Given the description of an element on the screen output the (x, y) to click on. 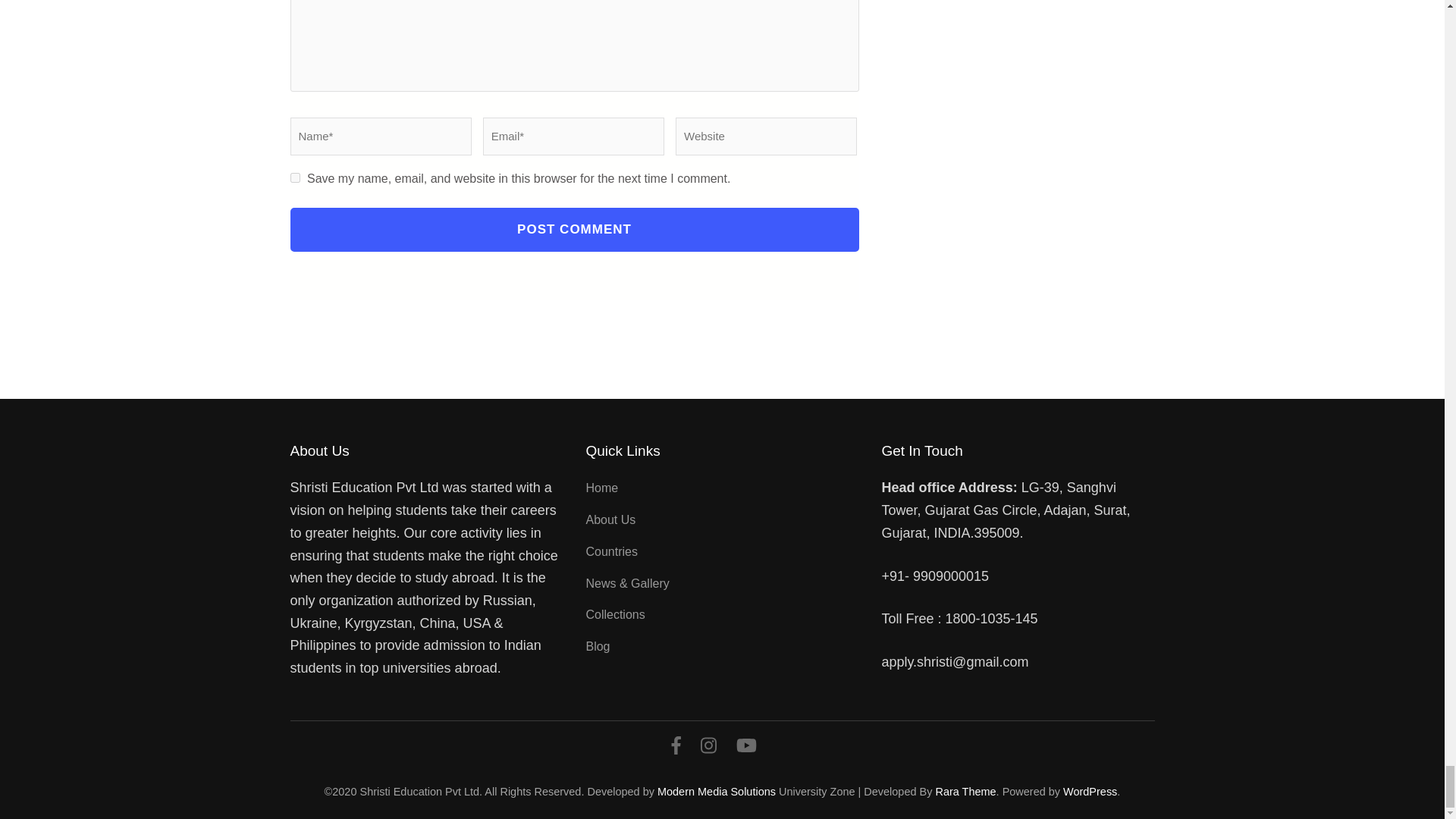
Post Comment (574, 229)
Instagram (708, 748)
yes (294, 177)
YouTube (746, 748)
